Given the description of an element on the screen output the (x, y) to click on. 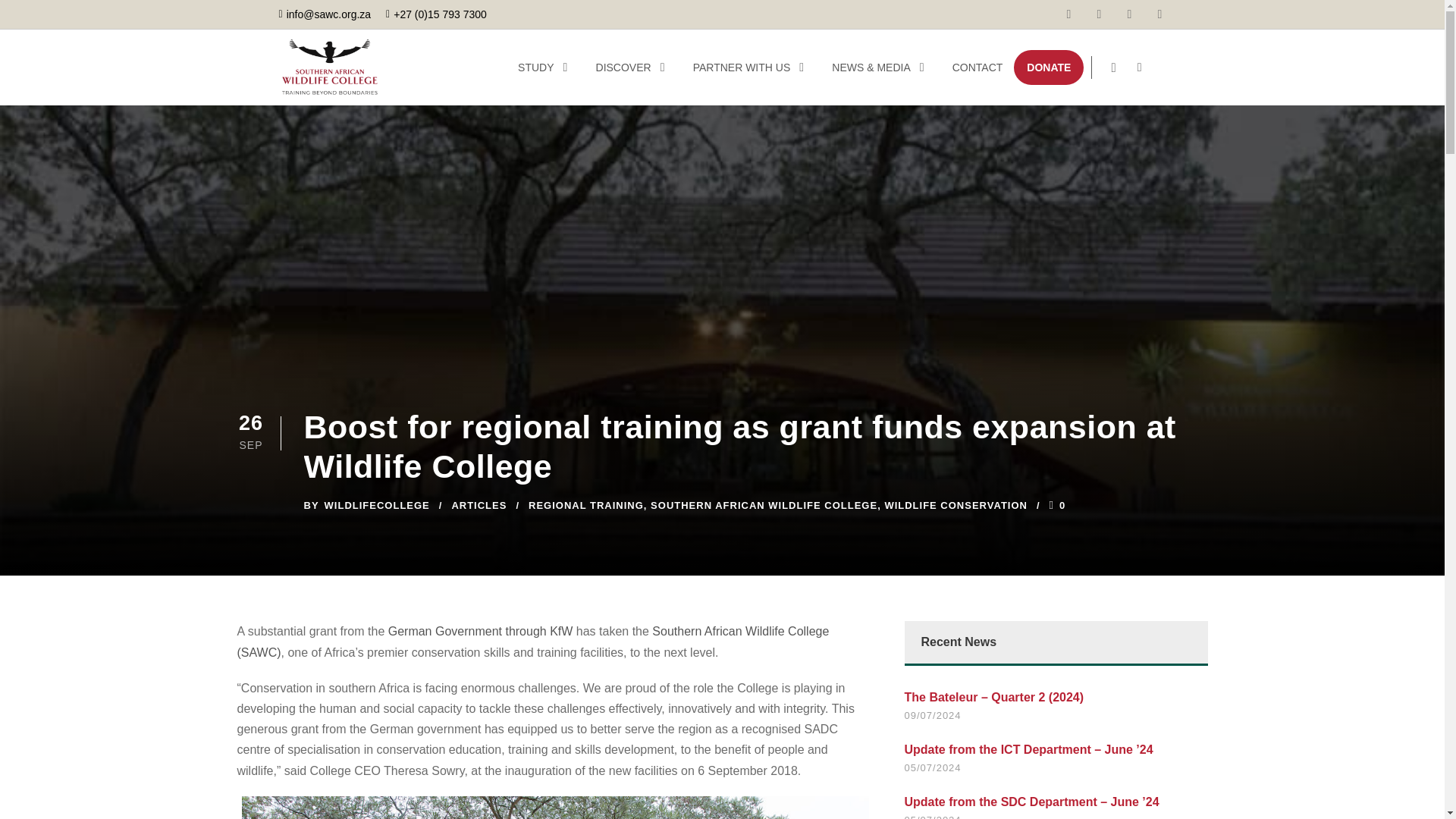
STUDY (544, 67)
Posts by WildlifeCollege (376, 505)
SAWC logo 2 (330, 67)
